Given the description of an element on the screen output the (x, y) to click on. 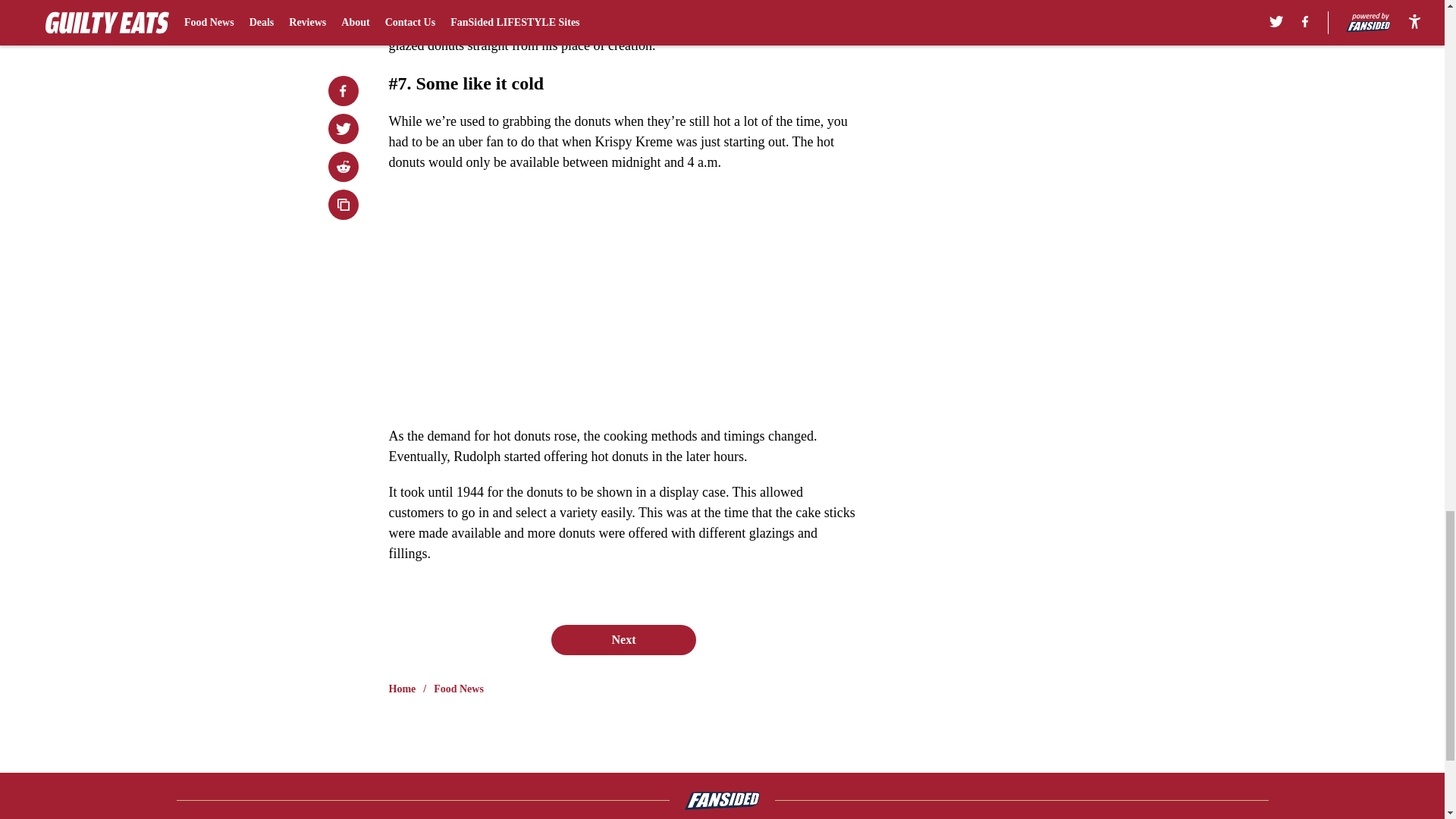
Next (622, 639)
Food News (458, 688)
Home (401, 688)
